Given the description of an element on the screen output the (x, y) to click on. 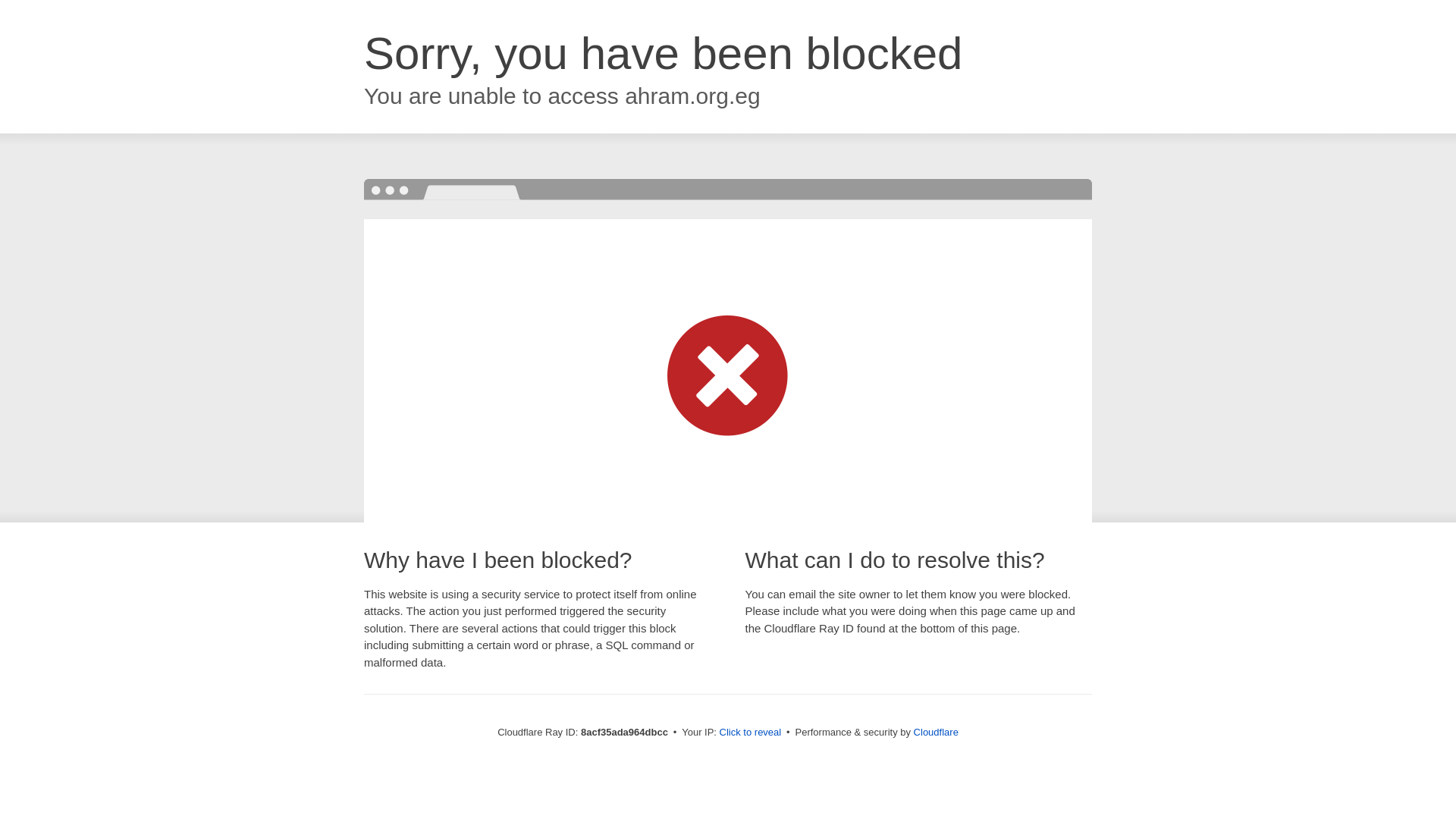
Cloudflare (936, 731)
Click to reveal (750, 732)
